Given the description of an element on the screen output the (x, y) to click on. 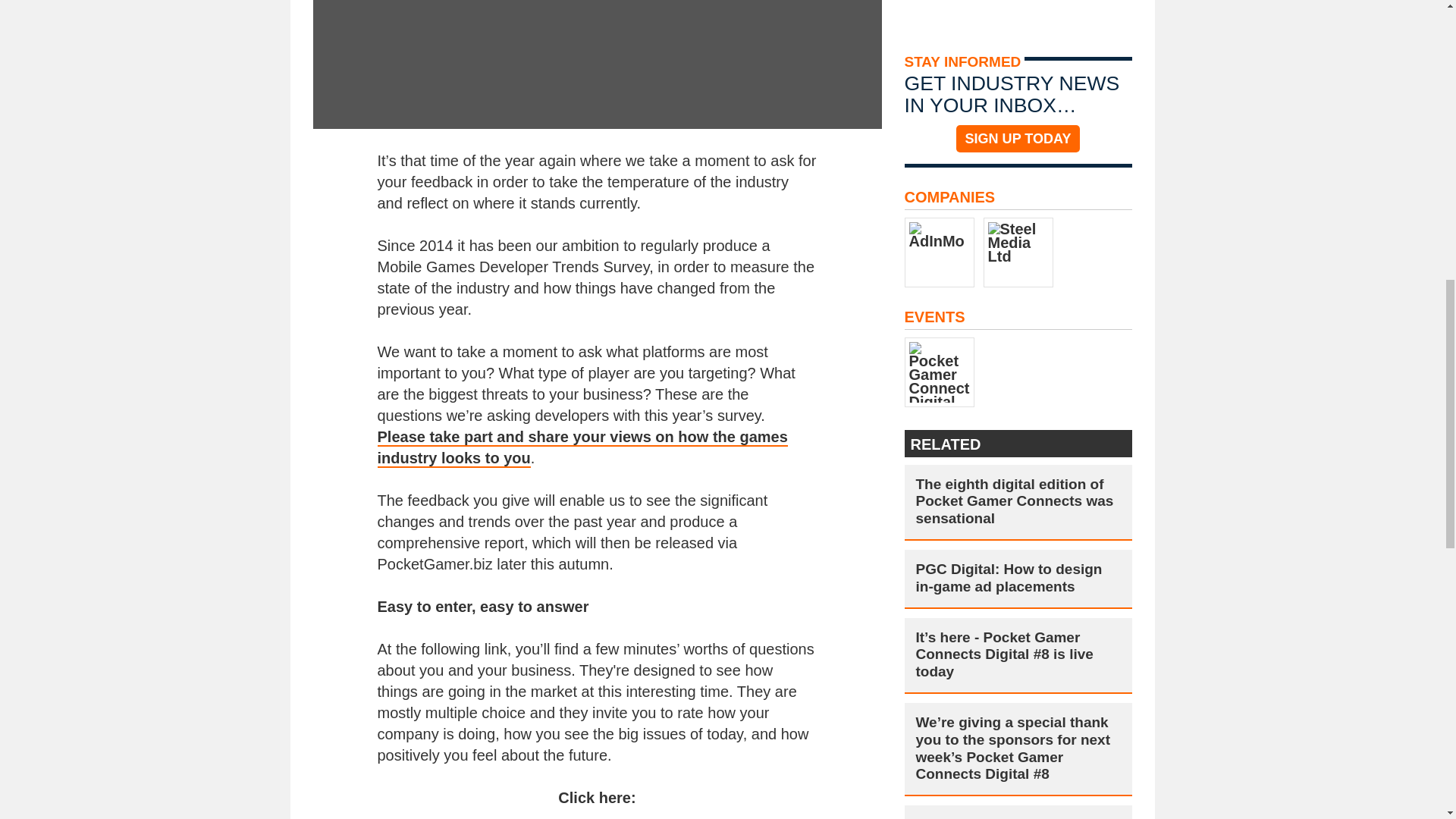
PGC Digital: How to design in-game ad placements (1017, 578)
